Given the description of an element on the screen output the (x, y) to click on. 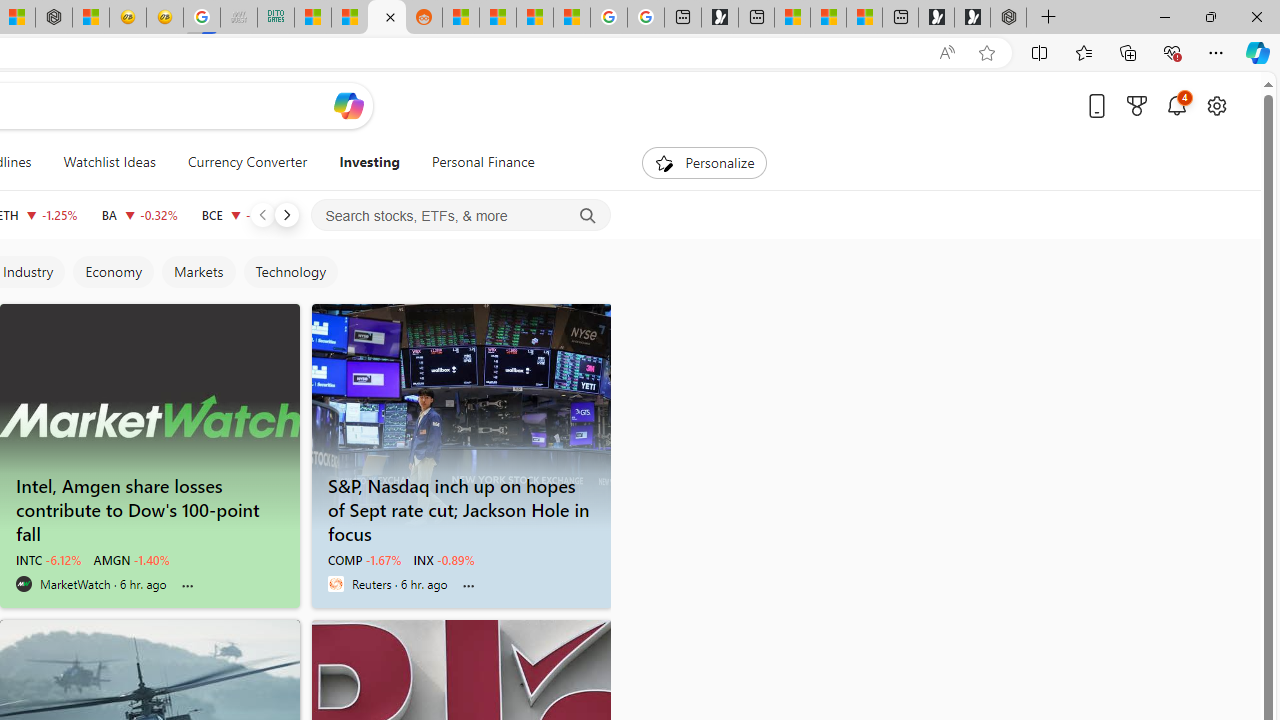
DITOGAMES AG Imprint (276, 17)
Watchlist Ideas (109, 162)
New tab (900, 17)
Microsoft Start Gaming (719, 17)
Browser essentials (1171, 52)
Close (1256, 16)
Investing (369, 162)
Personal Finance (474, 162)
Microsoft Start (828, 17)
R******* | Trusted Community Engagement and Contributions (460, 17)
Open Copilot (347, 105)
Watchlist Ideas (109, 162)
Microsoft rewards (1137, 105)
